Given the description of an element on the screen output the (x, y) to click on. 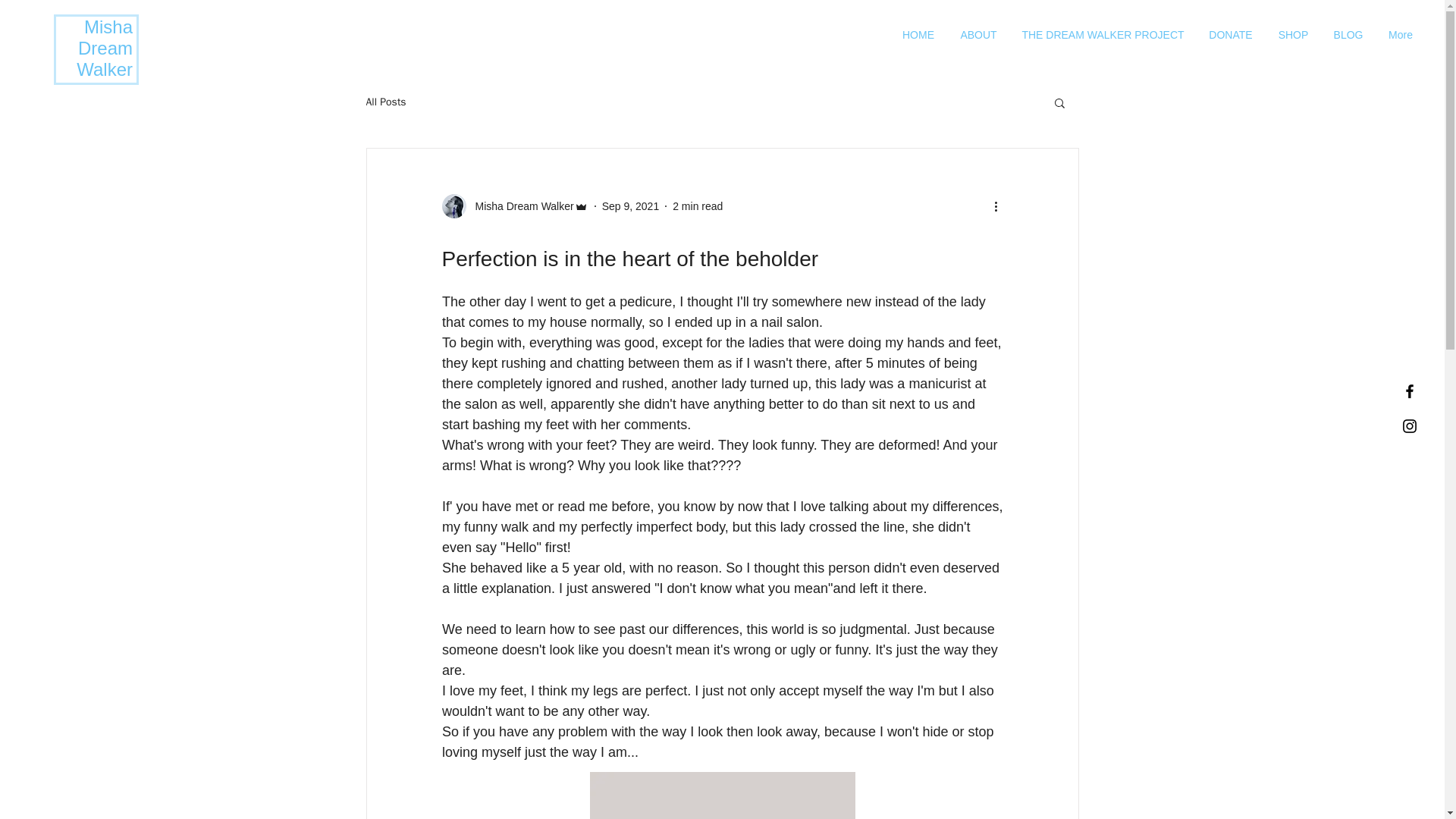
Misha (108, 26)
2 min read (697, 205)
ABOUT (978, 34)
Misha Dream Walker (519, 206)
All Posts (385, 101)
THE DREAM WALKER PROJECT (1102, 34)
SHOP (1292, 34)
DONATE (1230, 34)
Misha Dream Walker (514, 206)
BLOG (1347, 34)
